Given the description of an element on the screen output the (x, y) to click on. 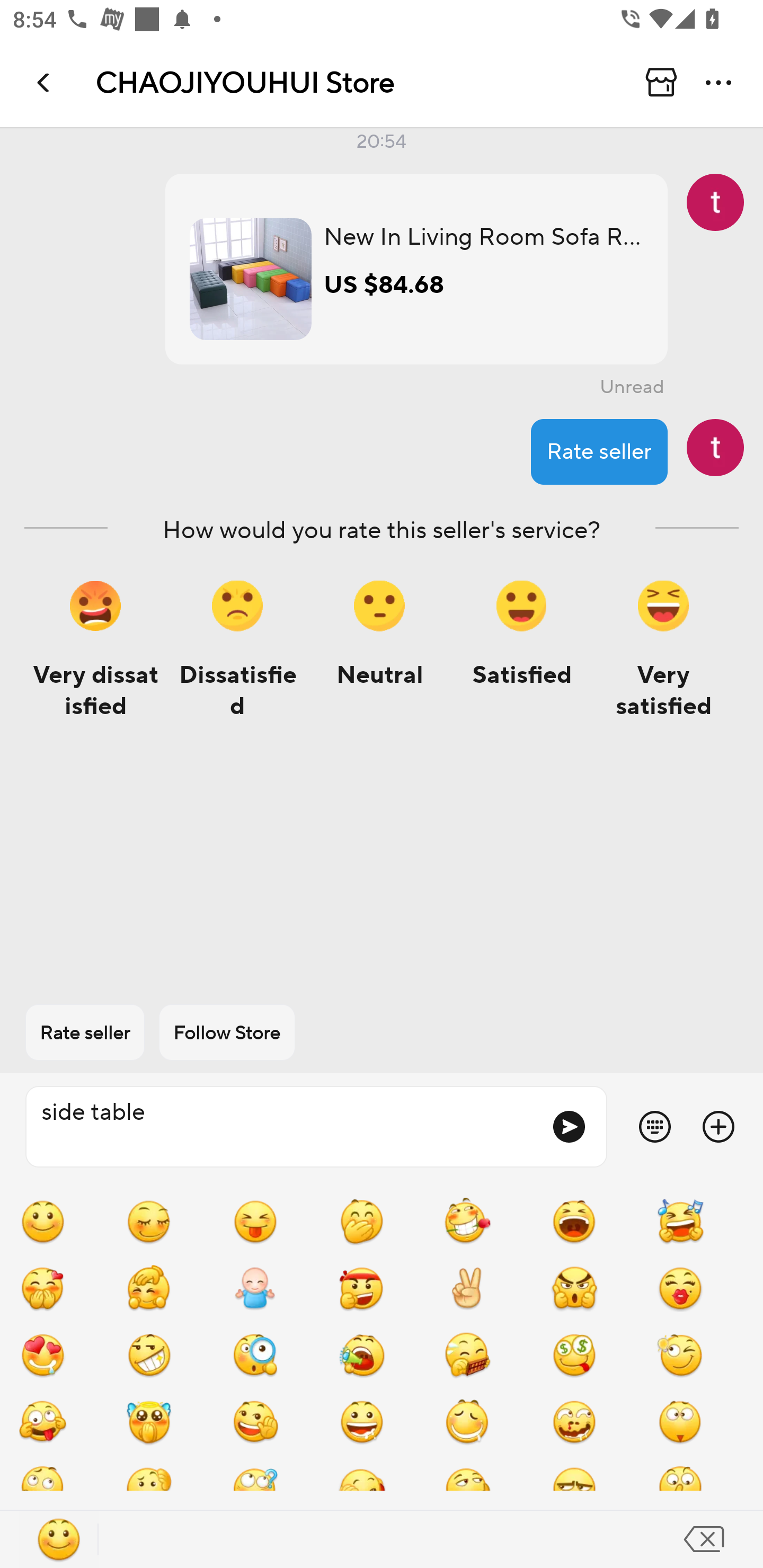
Navigate up (44, 82)
头像 (714, 202)
Rate seller (599, 451)
头像 (714, 447)
Rate seller (84, 1032)
Follow Store (226, 1032)
side table
 (281, 1127)
